Given the description of an element on the screen output the (x, y) to click on. 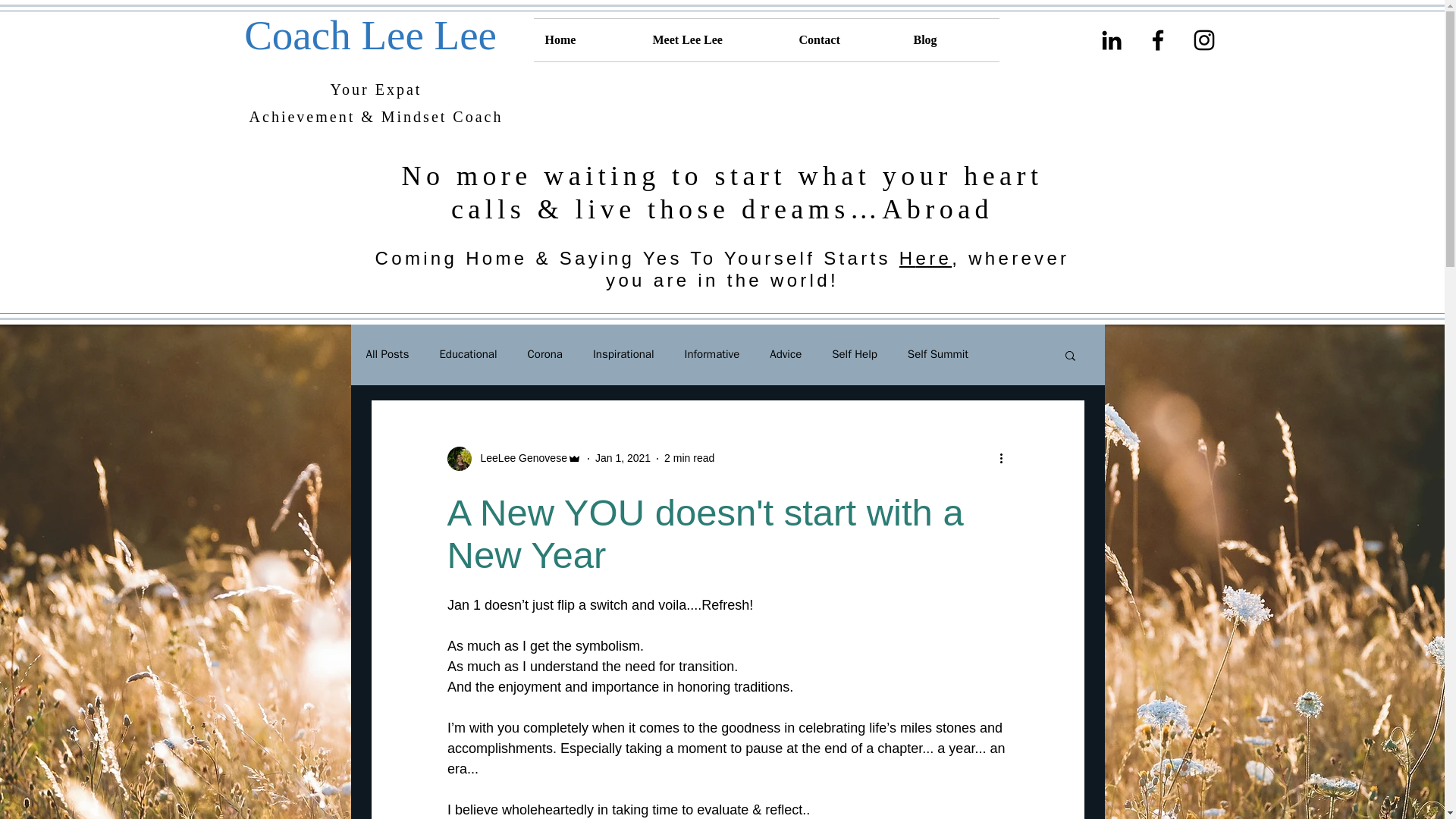
Educational (467, 354)
Inspirational (622, 354)
2 min read (688, 458)
Corona (544, 354)
Informative (711, 354)
Meet Lee Lee (714, 39)
Advice (786, 354)
Self Help (854, 354)
Blog (950, 39)
Home (588, 39)
Jan 1, 2021 (622, 458)
Contact (844, 39)
Self Summit (937, 354)
Here (925, 258)
Your Expat (376, 89)
